Given the description of an element on the screen output the (x, y) to click on. 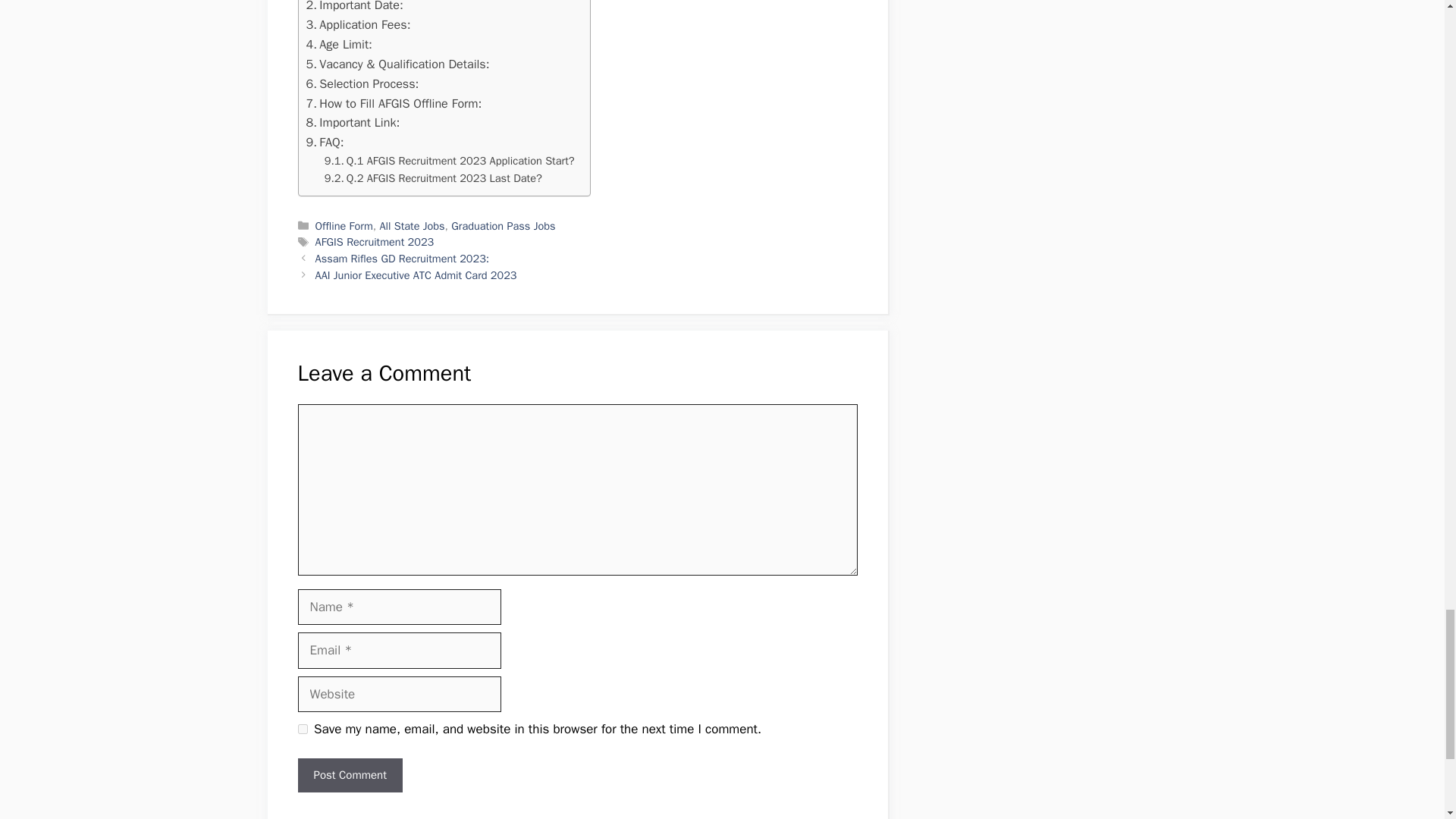
Selection Process: (362, 84)
AAI Junior Executive ATC Admit Card 2023 (415, 274)
Q.1 AFGIS Recruitment 2023 Application Start? (449, 160)
Post Comment (349, 775)
Graduation Pass Jobs (502, 225)
AFGIS Recruitment 2023 (374, 241)
Important Link: (352, 122)
How to Fill AFGIS Offline Form: (393, 103)
Q.2 AFGIS Recruitment 2023 Last Date? (432, 178)
Offline Form (343, 225)
